Given the description of an element on the screen output the (x, y) to click on. 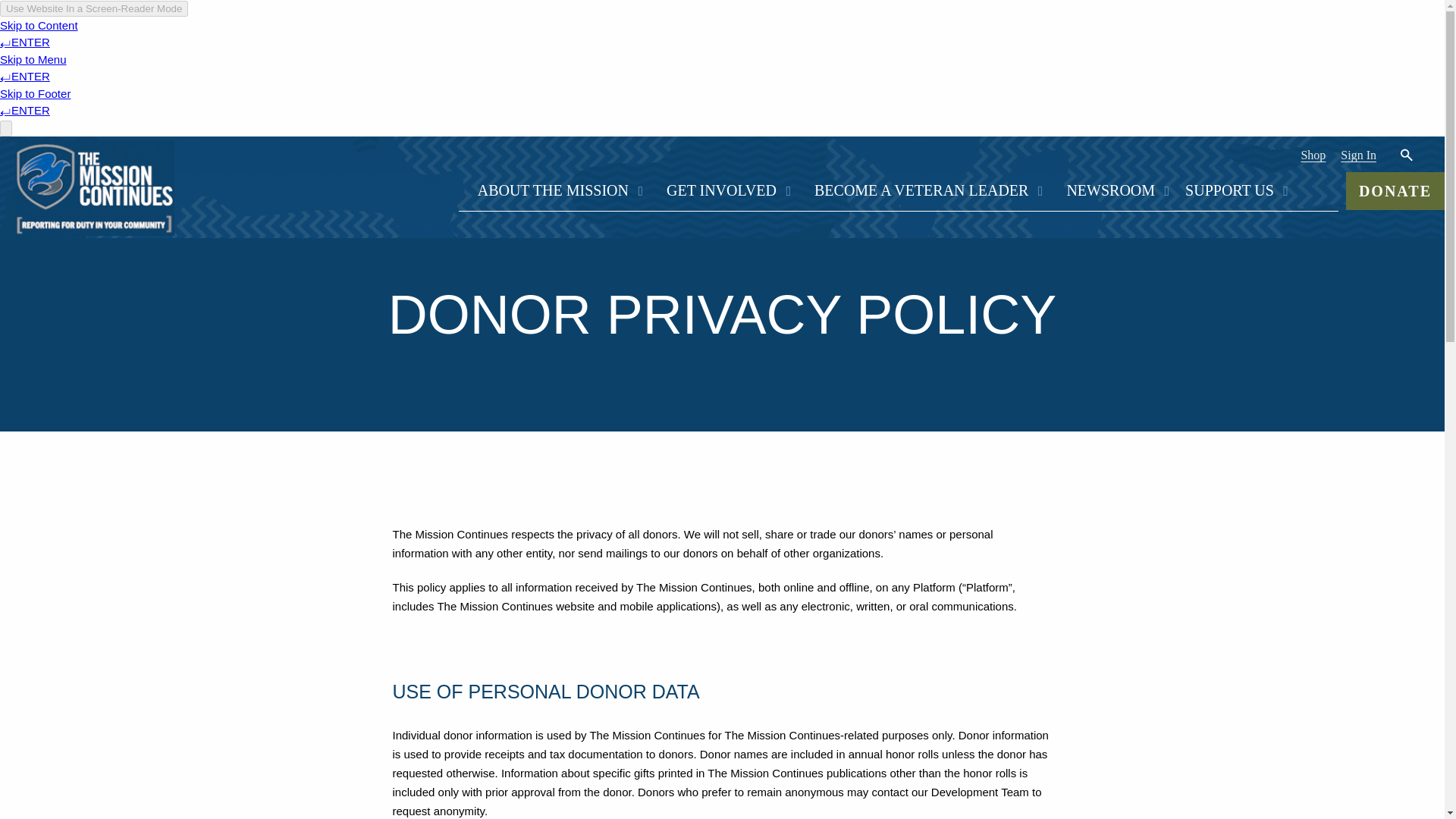
Sign In (1358, 155)
ABOUT THE MISSION (552, 190)
Shop (1312, 155)
BECOME A VETERAN LEADER (921, 190)
NEWSROOM (1110, 190)
SUPPORT US (1225, 190)
GET INVOLVED (721, 190)
